Given the description of an element on the screen output the (x, y) to click on. 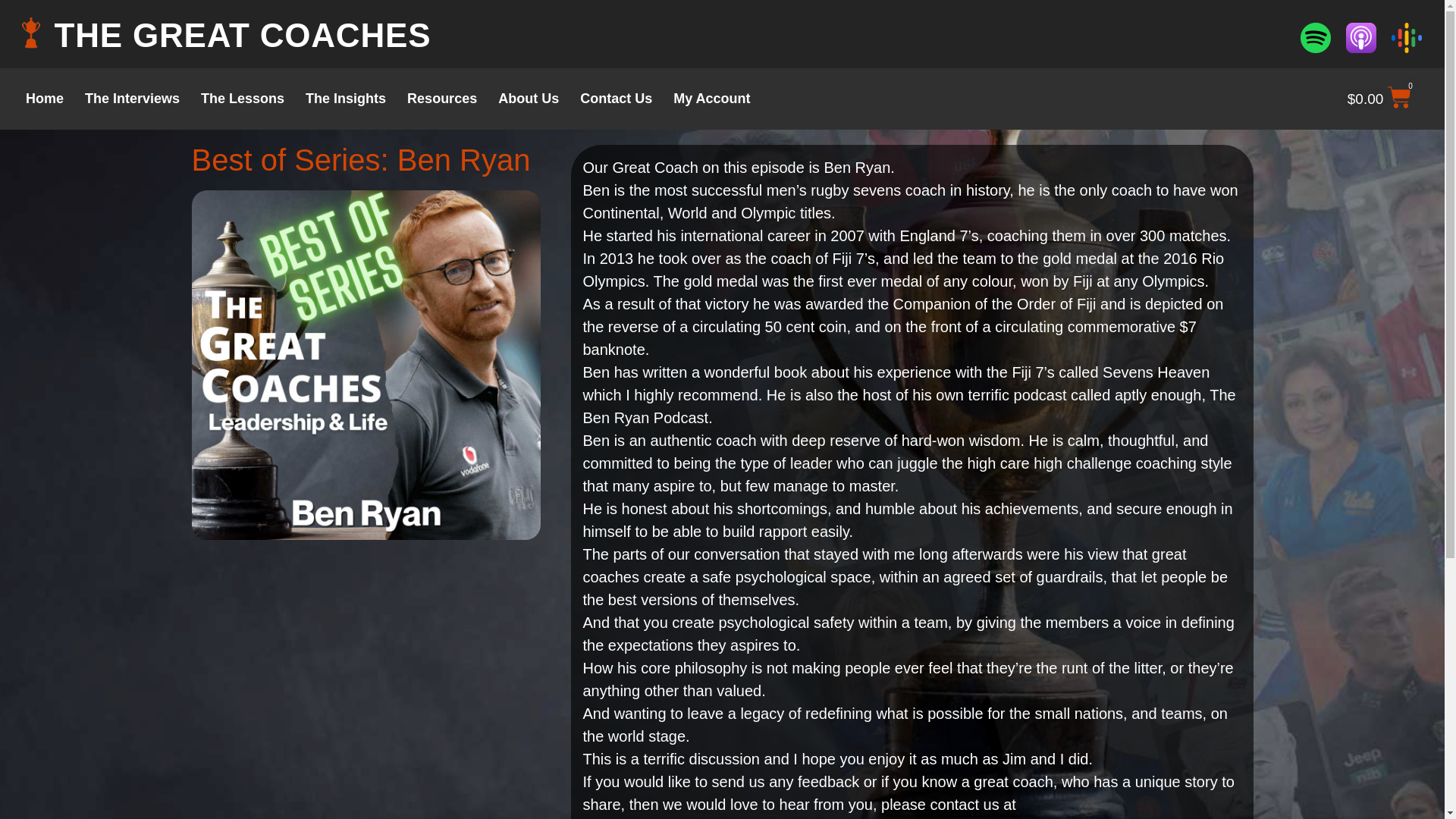
Google (1406, 37)
My Account (711, 99)
About Us (528, 99)
cropped-Trophy-Icon-Orange-512.png (30, 32)
The Insights (345, 99)
Resources (441, 99)
Contact Us (615, 99)
Apple (1360, 37)
Spotify (1315, 37)
Home (44, 99)
